Given the description of an element on the screen output the (x, y) to click on. 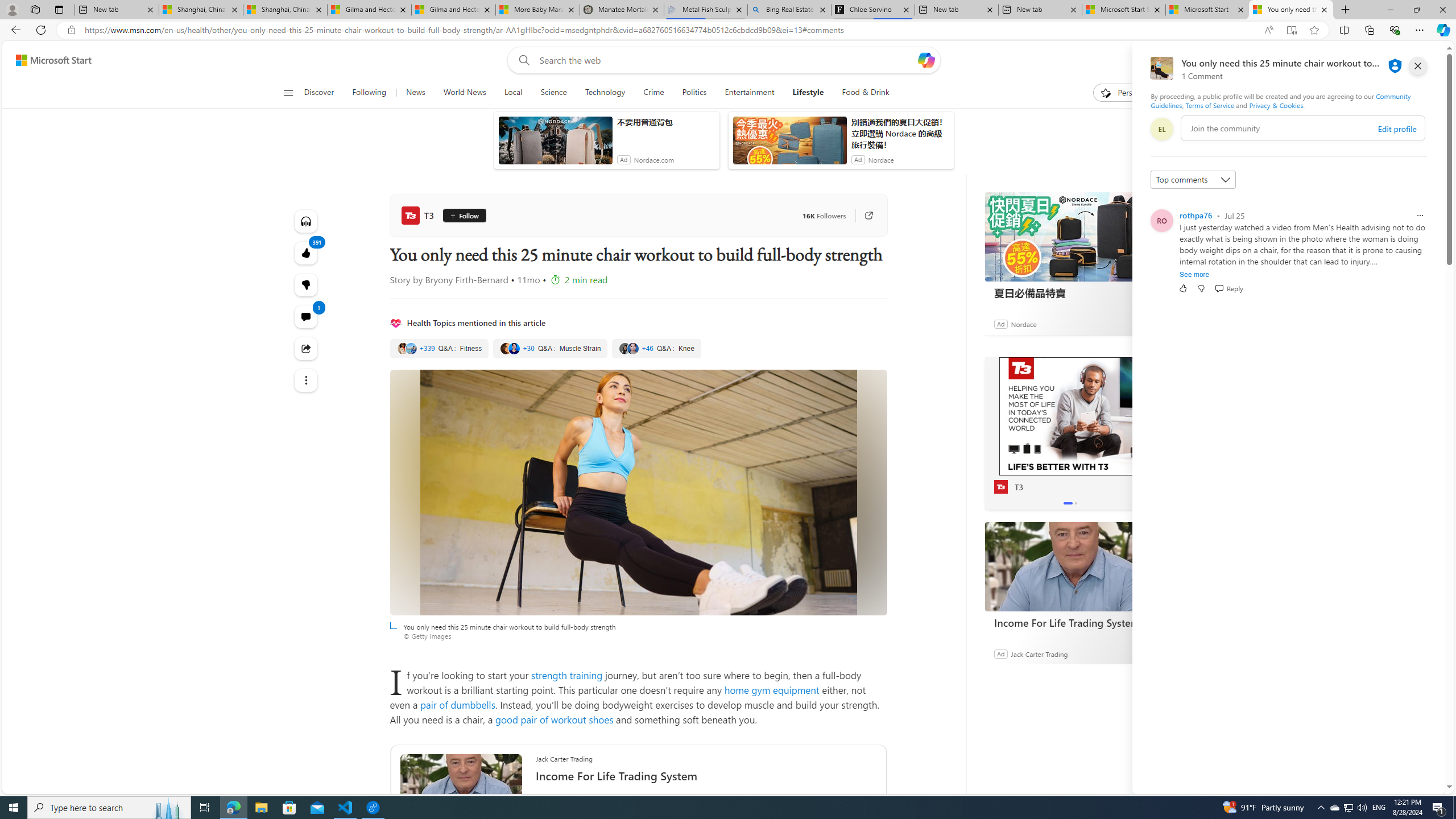
World News (464, 92)
Skip to footer (46, 59)
Microsoft Start Sports (1123, 9)
Food & Drink (865, 92)
Shanghai, China weather forecast | Microsoft Weather (284, 9)
Privacy & Cookies (1276, 104)
Feedback (1402, 784)
Enter Immersive Reader (F9) (1291, 29)
anim-content (789, 144)
Crime (653, 92)
